Given the description of an element on the screen output the (x, y) to click on. 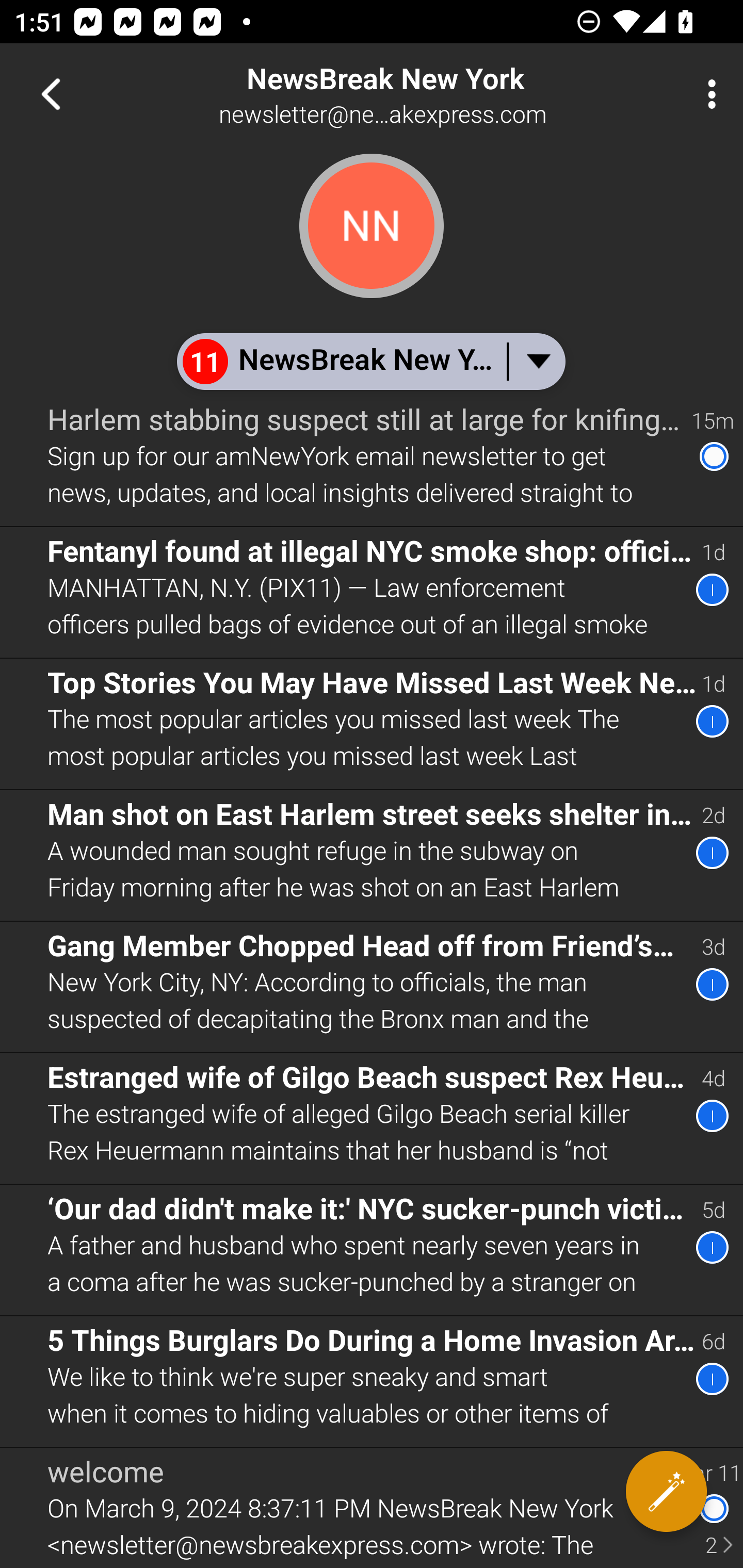
Navigate up (50, 93)
NewsBreak New York newsletter@newsbreakexpress.com (436, 93)
More Options (706, 93)
11 NewsBreak New York & You (370, 361)
